Given the description of an element on the screen output the (x, y) to click on. 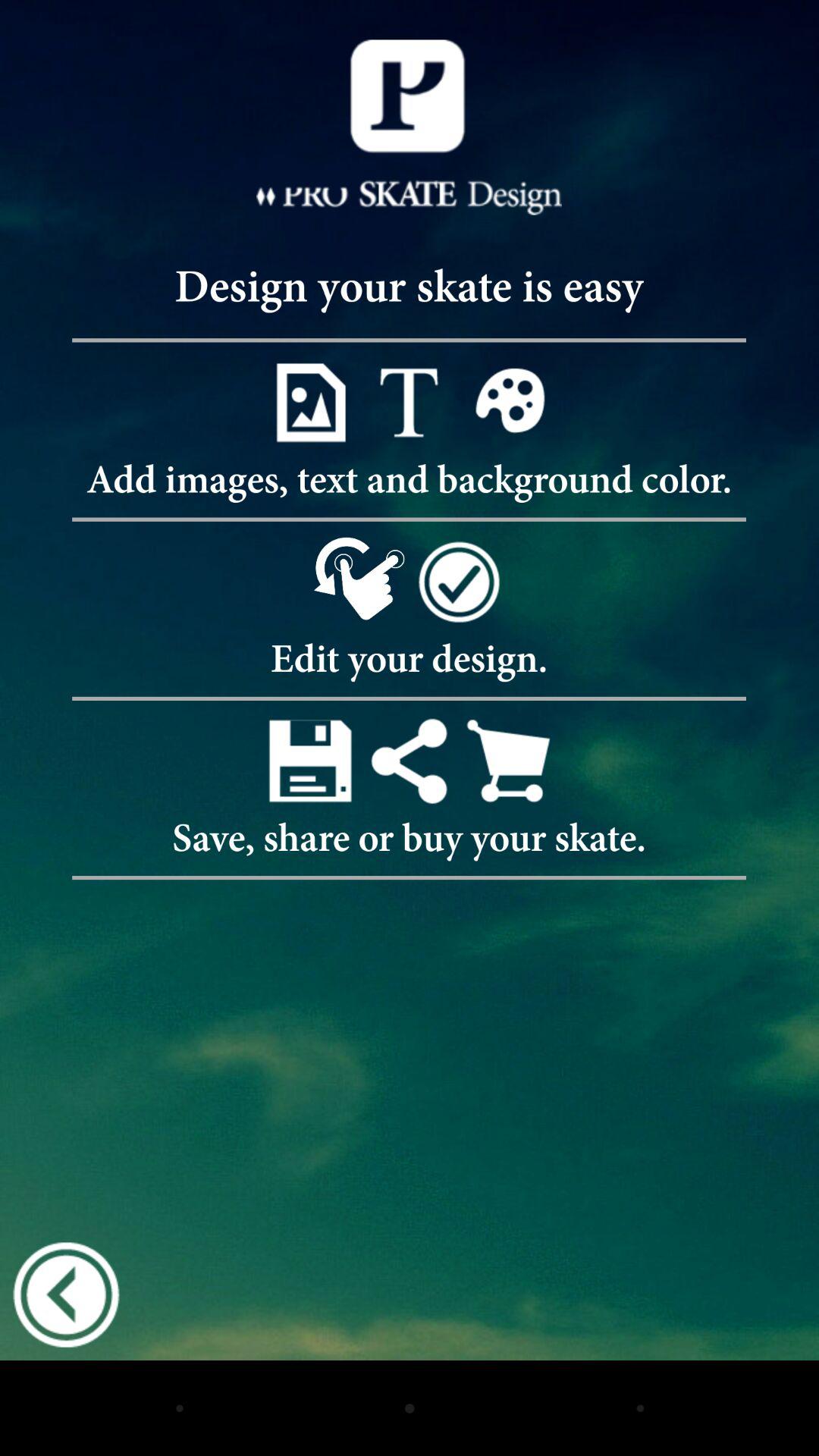
select icon at the bottom left corner (66, 1293)
